Given the description of an element on the screen output the (x, y) to click on. 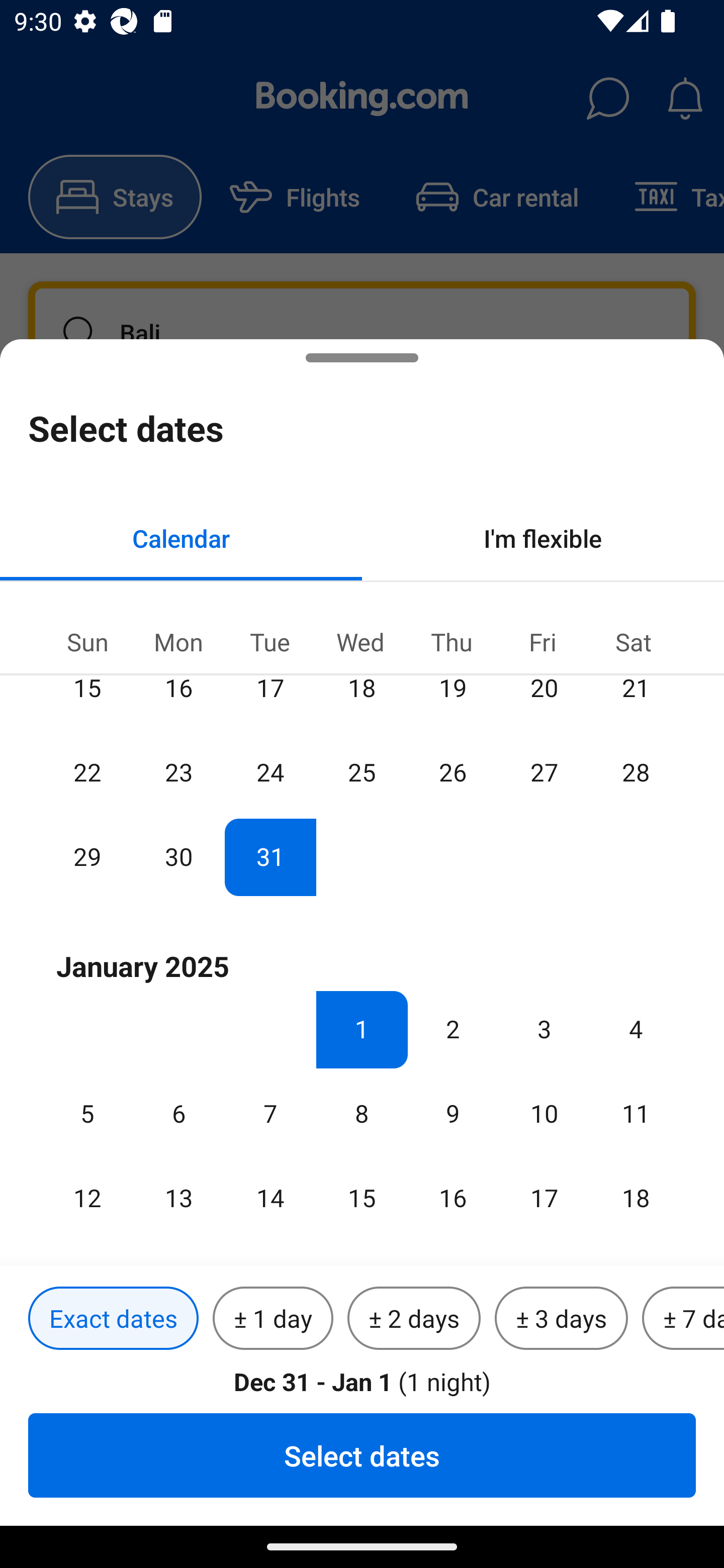
I'm flexible (543, 537)
Exact dates (113, 1318)
± 1 day (272, 1318)
± 2 days (413, 1318)
± 3 days (560, 1318)
± 7 days (683, 1318)
Select dates (361, 1454)
